Given the description of an element on the screen output the (x, y) to click on. 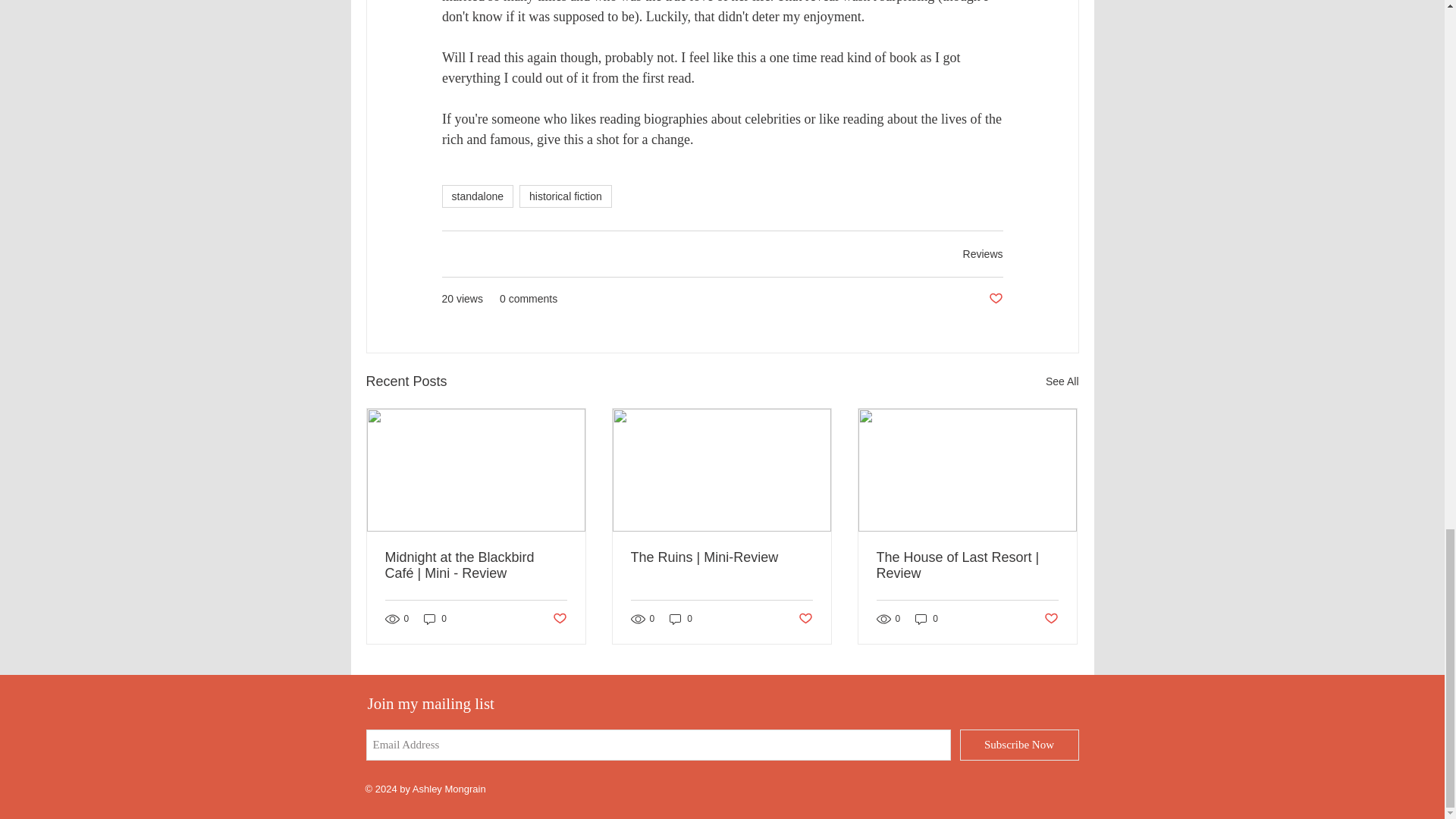
Post not marked as liked (995, 299)
Post not marked as liked (558, 618)
Post not marked as liked (804, 618)
See All (1061, 382)
standalone (477, 196)
0 (435, 618)
0 (926, 618)
Reviews (982, 254)
historical fiction (565, 196)
0 (681, 618)
